Given the description of an element on the screen output the (x, y) to click on. 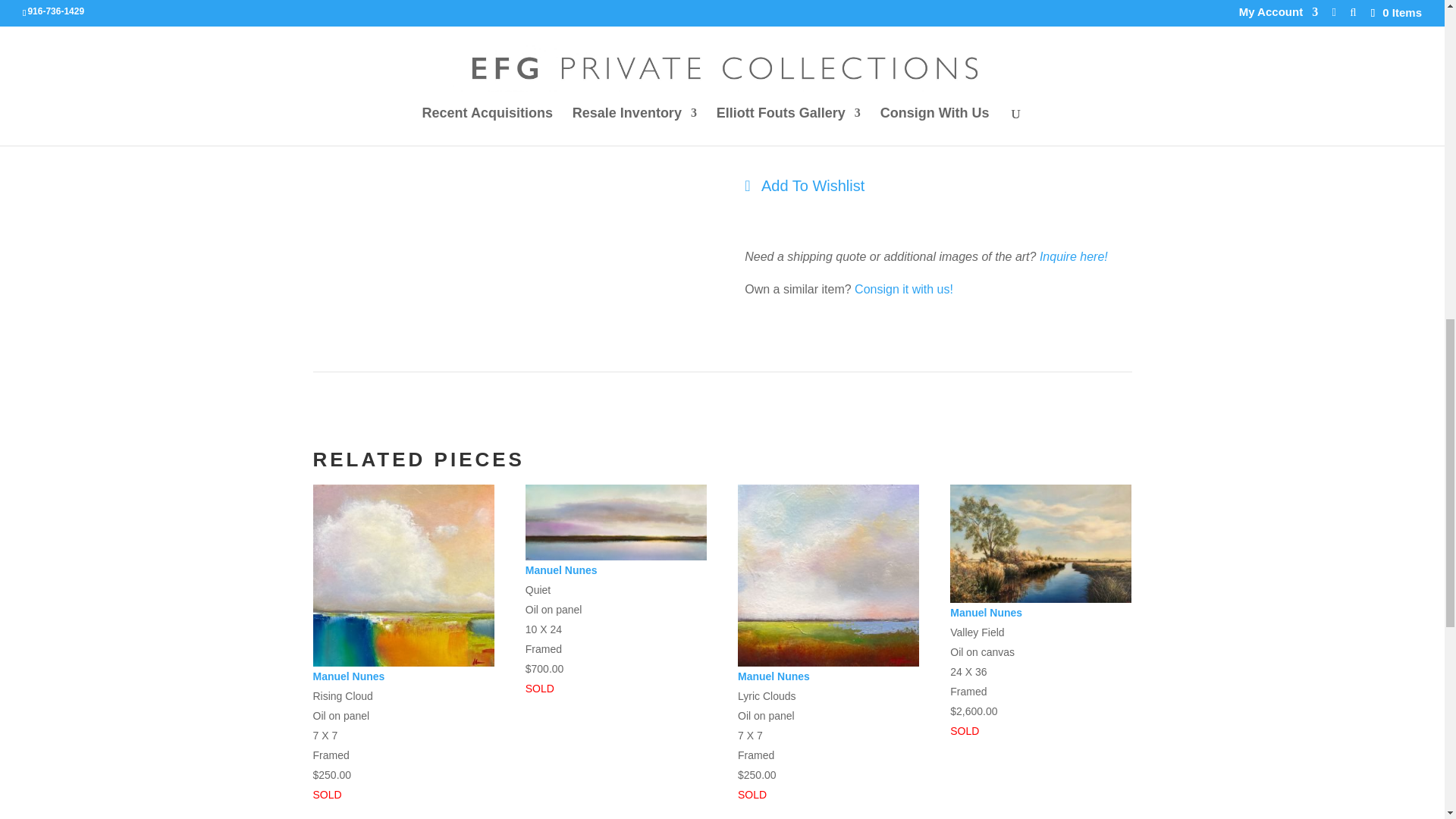
Product Inquiry (1073, 256)
